Given the description of an element on the screen output the (x, y) to click on. 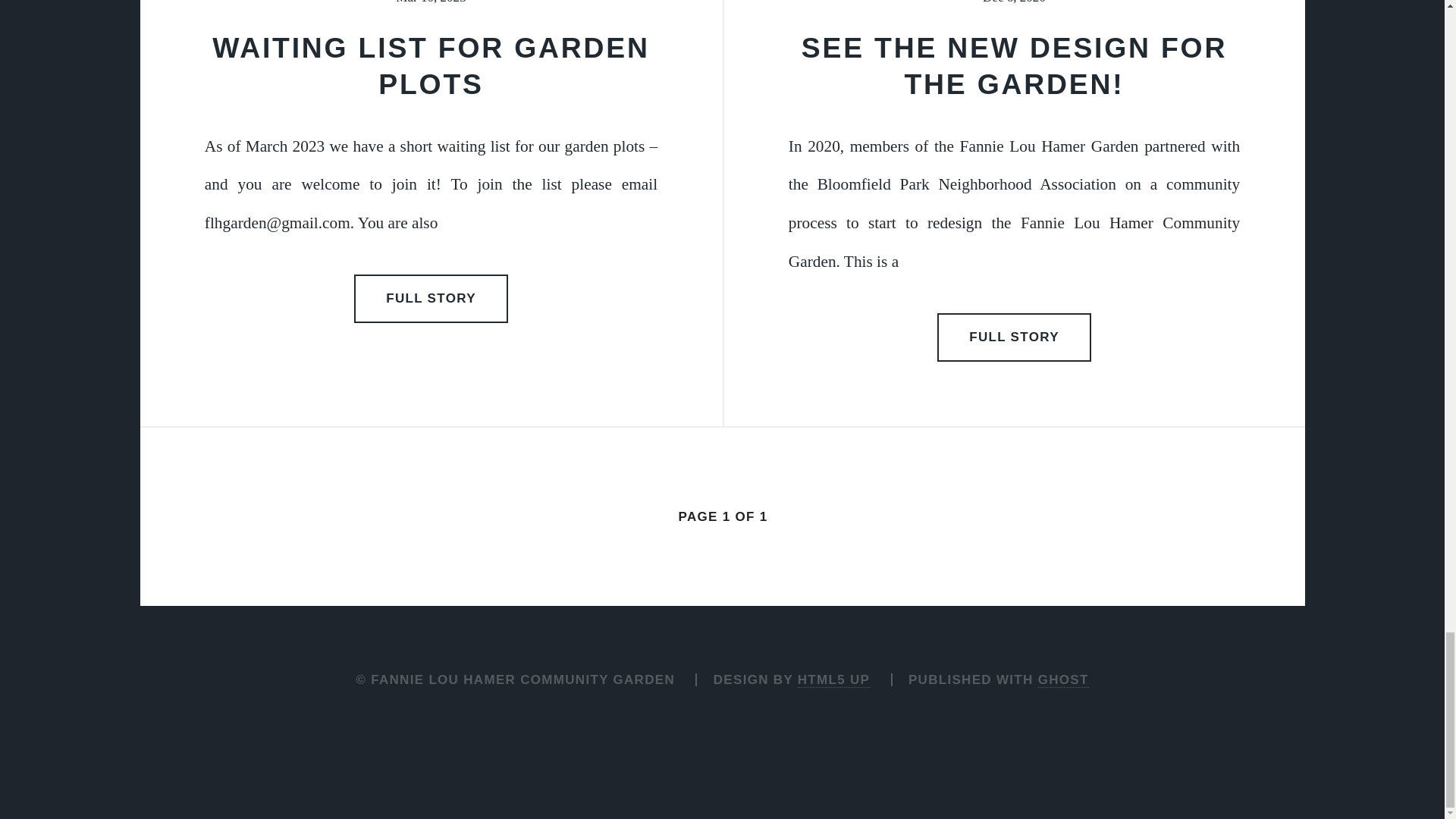
FULL STORY (430, 298)
FULL STORY (1014, 336)
WAITING LIST FOR GARDEN PLOTS (430, 65)
GHOST (1063, 679)
HTML5 UP (833, 679)
SEE THE NEW DESIGN FOR THE GARDEN! (1014, 65)
